Given the description of an element on the screen output the (x, y) to click on. 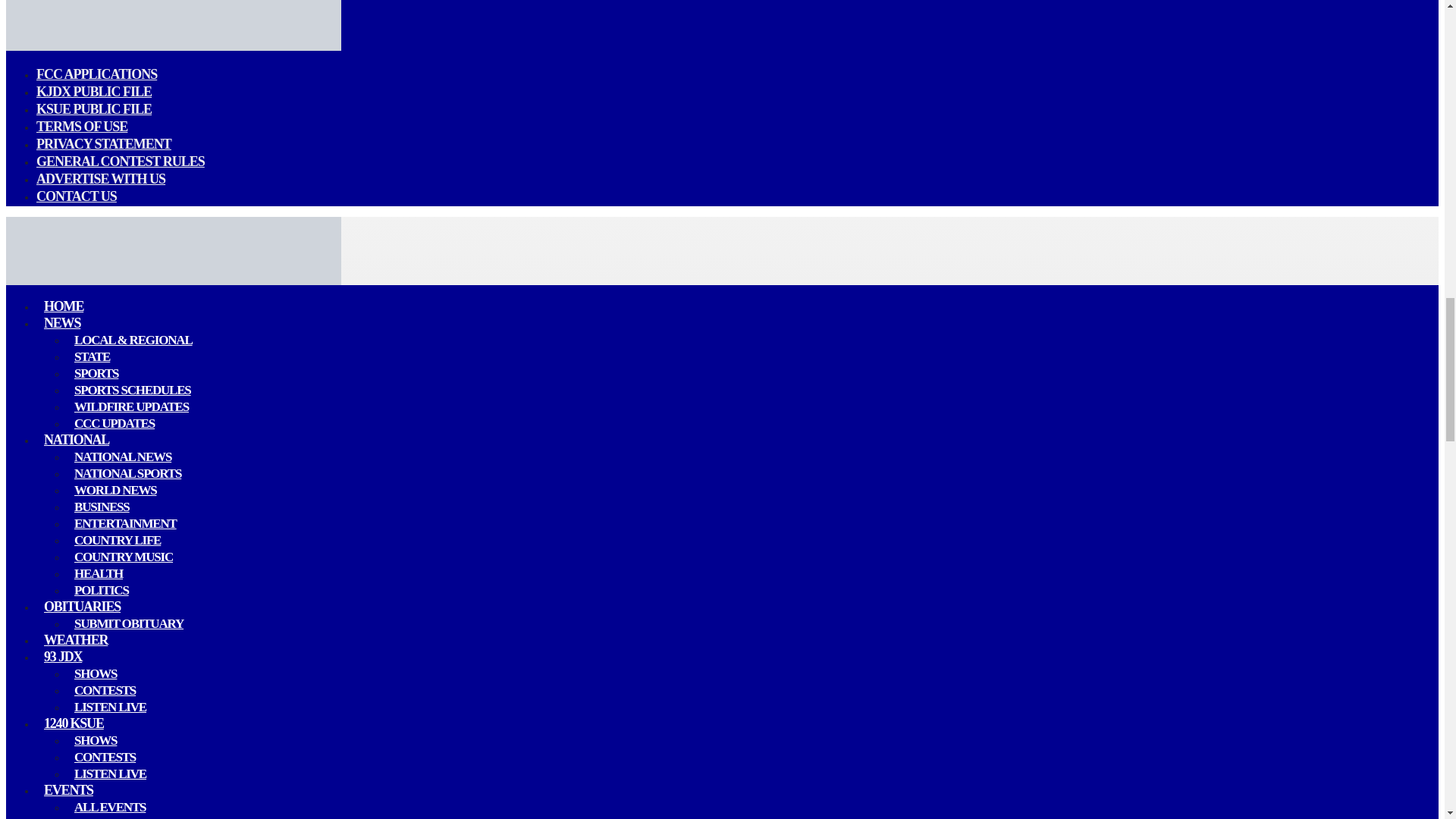
SierraDailyNews.com (172, 47)
